Given the description of an element on the screen output the (x, y) to click on. 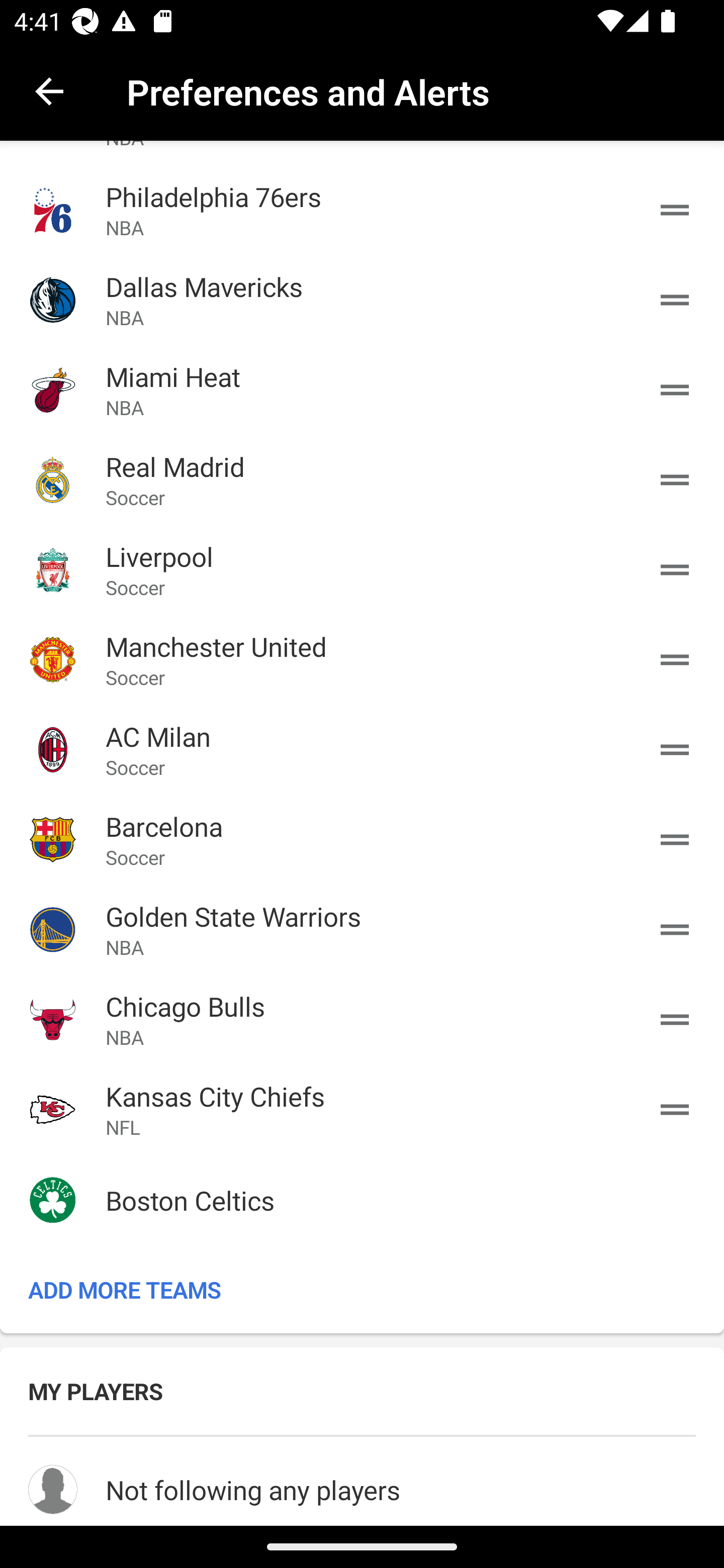
back.button (49, 90)
Miami Heat Miami Heat Miami Heat NBA NBA (362, 389)
Real Madrid Real Madrid Real Madrid Soccer Soccer (362, 479)
Liverpool Liverpool Liverpool Soccer Soccer (362, 569)
AC Milan AC Milan AC Milan Soccer Soccer (362, 749)
Barcelona Barcelona Barcelona Soccer Soccer (362, 839)
Chicago Bulls Chicago Bulls Chicago Bulls NBA NBA (362, 1018)
Boston Celtics Boston Celtics Boston Celtics (362, 1200)
ADD MORE TEAMS (362, 1289)
